Given the description of an element on the screen output the (x, y) to click on. 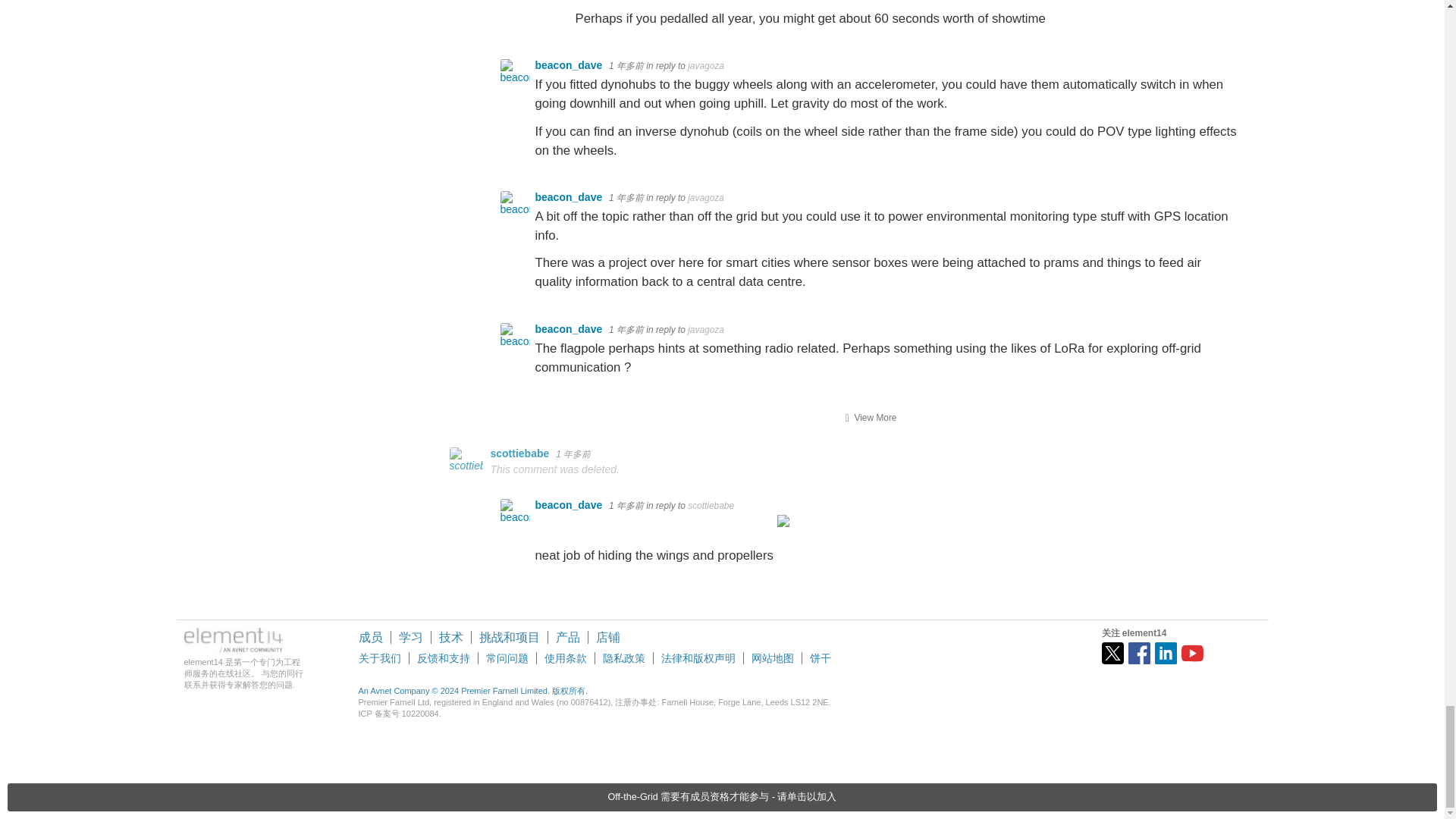
Wink (784, 554)
Slight smile (1056, 18)
